Given the description of an element on the screen output the (x, y) to click on. 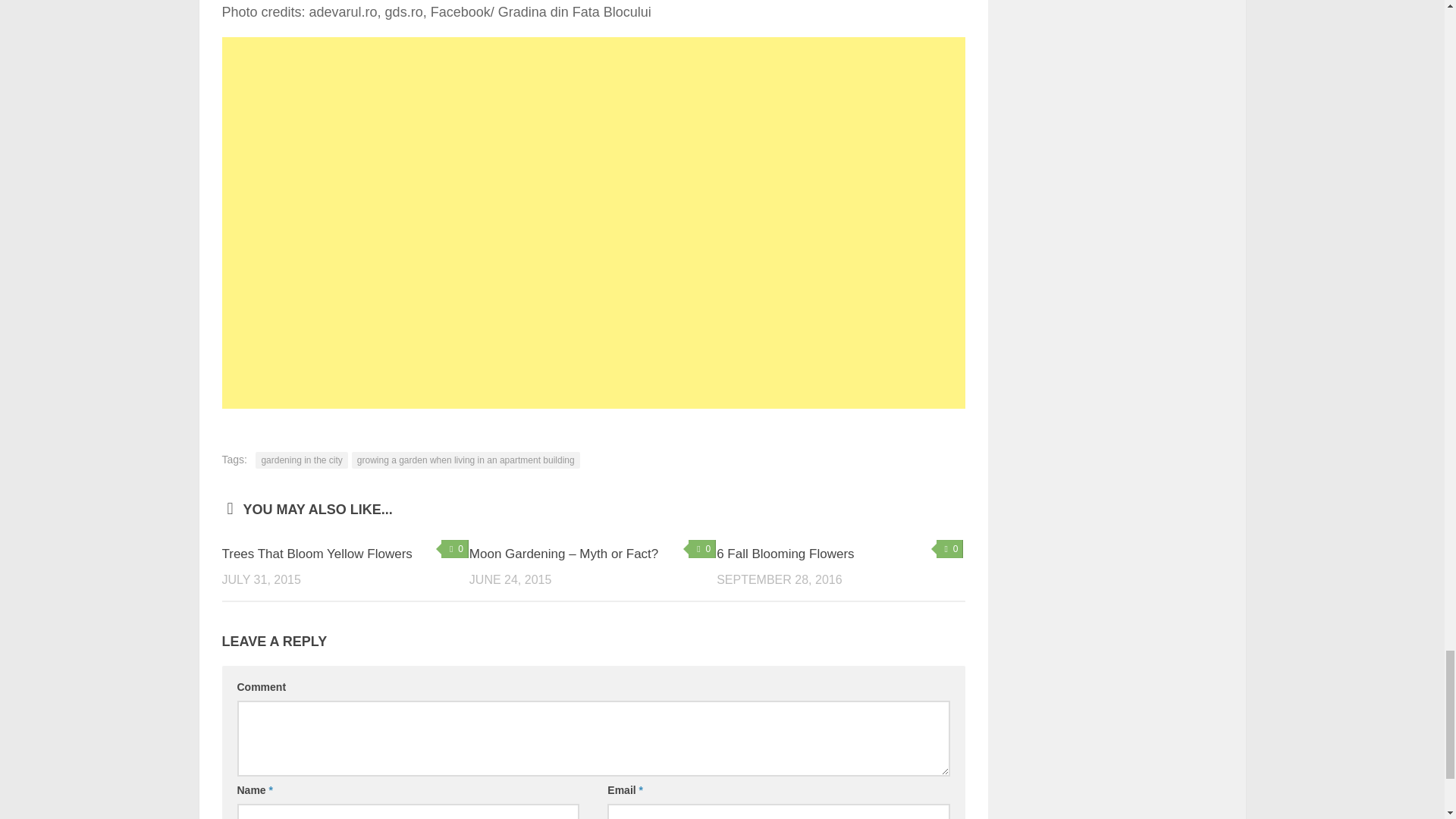
0 (949, 548)
0 (702, 548)
Trees That Bloom Yellow Flowers (316, 554)
growing a garden when living in an apartment building (465, 460)
gardening in the city (301, 460)
6 Fall Blooming Flowers (784, 554)
Trees That Bloom Yellow Flowers (316, 554)
6 Fall Blooming Flowers (784, 554)
0 (454, 548)
